Given the description of an element on the screen output the (x, y) to click on. 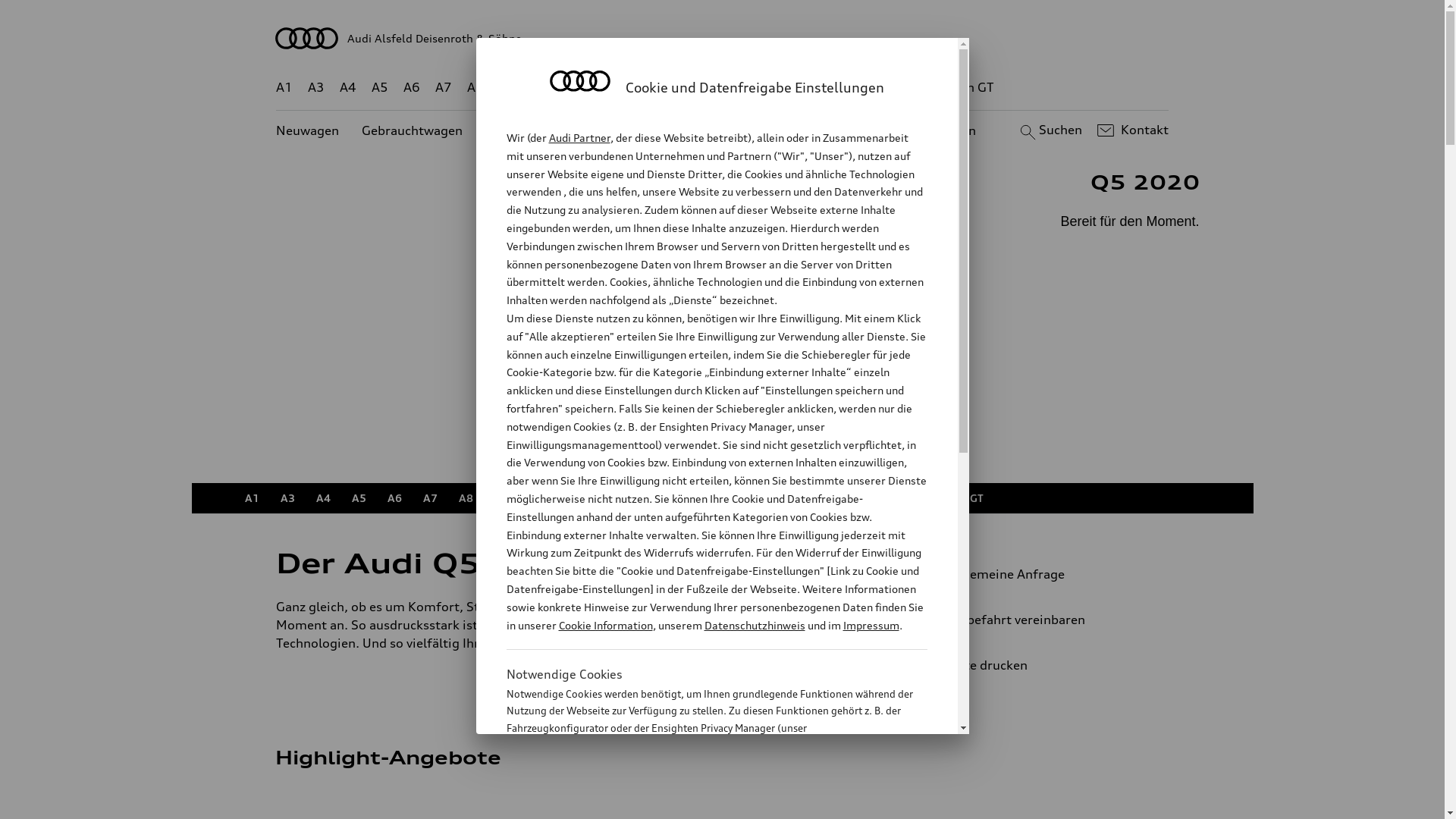
Q8 e-tron Element type: text (767, 498)
g-tron Element type: text (903, 87)
Audi Partner Element type: text (579, 137)
A7 Element type: text (443, 87)
RS Element type: text (861, 87)
Kundenservice Element type: text (730, 130)
Probefahrt vereinbaren Element type: text (1038, 619)
TT Element type: text (814, 87)
Kontakt Element type: text (1130, 130)
A7 Element type: text (430, 498)
A3 Element type: text (315, 87)
e-tron GT Element type: text (958, 498)
Cookie Information Element type: text (700, 802)
Q5 Element type: text (645, 87)
Q8 Element type: text (713, 498)
Q4 e-tron Element type: text (592, 87)
Q5 Element type: text (642, 498)
g-tron Element type: text (897, 498)
Q2 Element type: text (501, 498)
RS Element type: text (852, 498)
A1 Element type: text (284, 87)
Q4 e-tron Element type: text (590, 498)
Allgemeine Anfrage Element type: text (1038, 573)
Gebrauchtwagen Element type: text (411, 130)
A4 Element type: text (322, 498)
Q8 e-tron Element type: text (763, 87)
A8 Element type: text (465, 498)
Q7 Element type: text (678, 498)
A1 Element type: text (251, 498)
A5 Element type: text (379, 87)
Q2 Element type: text (507, 87)
Neuwagen Element type: text (307, 130)
TT Element type: text (818, 498)
Angebote Element type: text (636, 130)
Q8 Element type: text (710, 87)
A6 Element type: text (411, 87)
Datenschutzhinweis Element type: text (753, 624)
A6 Element type: text (393, 498)
e-tron GT Element type: text (965, 87)
Impressum Element type: text (871, 624)
Seite drucken Element type: text (1044, 664)
A8 Element type: text (475, 87)
Q7 Element type: text (678, 87)
Q3 Element type: text (540, 87)
A3 Element type: text (287, 498)
Cookie Information Element type: text (605, 624)
A4 Element type: text (347, 87)
Q3 Element type: text (536, 498)
Suchen Element type: text (1049, 130)
A5 Element type: text (358, 498)
